Given the description of an element on the screen output the (x, y) to click on. 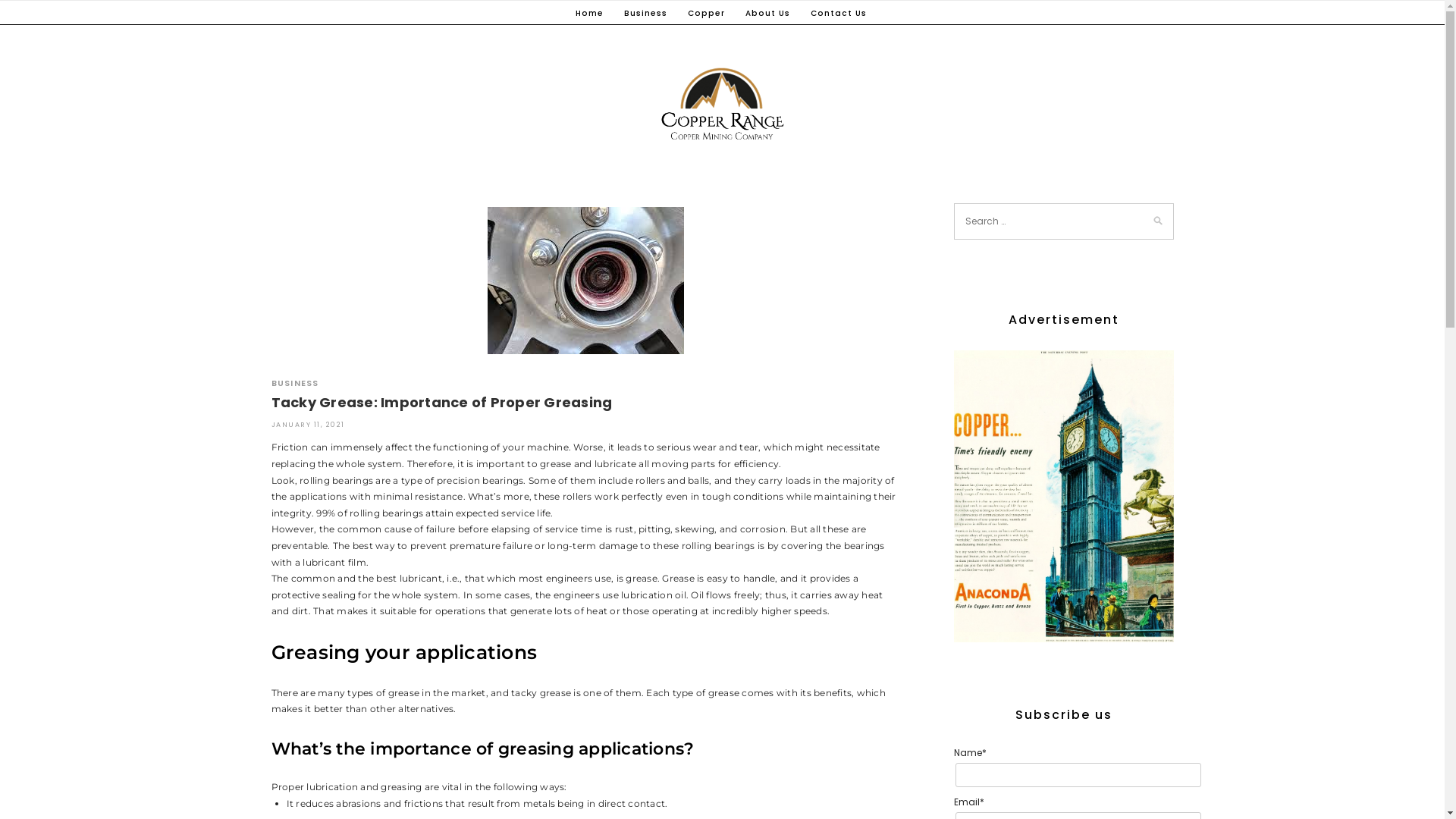
About Us Element type: text (766, 12)
Business Element type: text (644, 12)
Contact Us Element type: text (837, 12)
BUSINESS Element type: text (295, 382)
Copper Element type: text (705, 12)
Search Element type: text (29, 11)
Home Element type: text (588, 12)
